Given the description of an element on the screen output the (x, y) to click on. 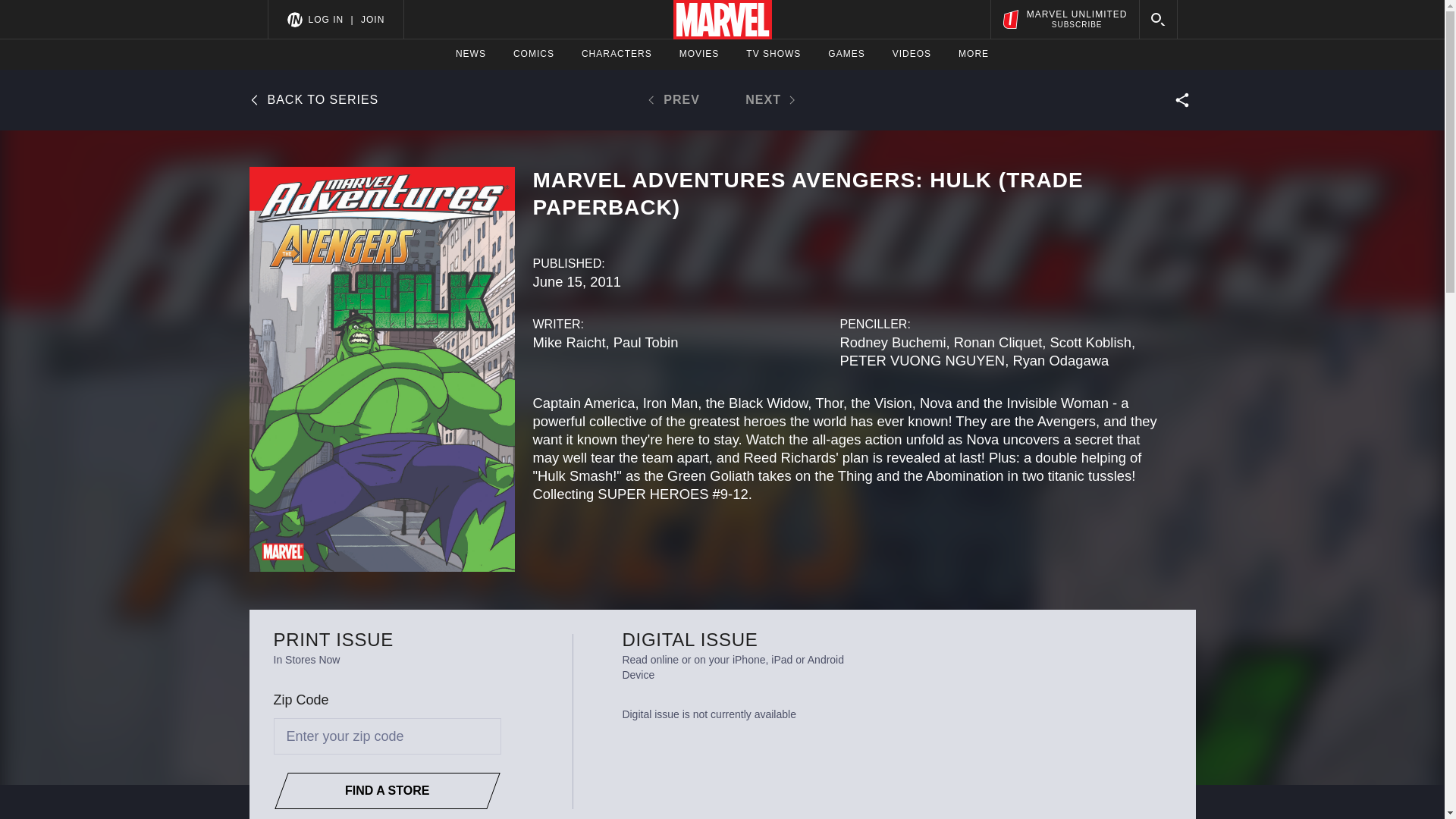
FIND A STORE (380, 791)
NEWS (470, 54)
VIDEOS (911, 54)
MORE (973, 54)
MOVIES (699, 54)
Paul Tobin (645, 342)
JOIN (372, 18)
TV SHOWS (772, 54)
COMICS (533, 54)
NEXT (764, 99)
GAMES (846, 54)
BACK TO SERIES (313, 99)
PETER VUONG NGUYEN (923, 360)
CHARACTERS (616, 54)
Ryan Odagawa (1059, 360)
